Given the description of an element on the screen output the (x, y) to click on. 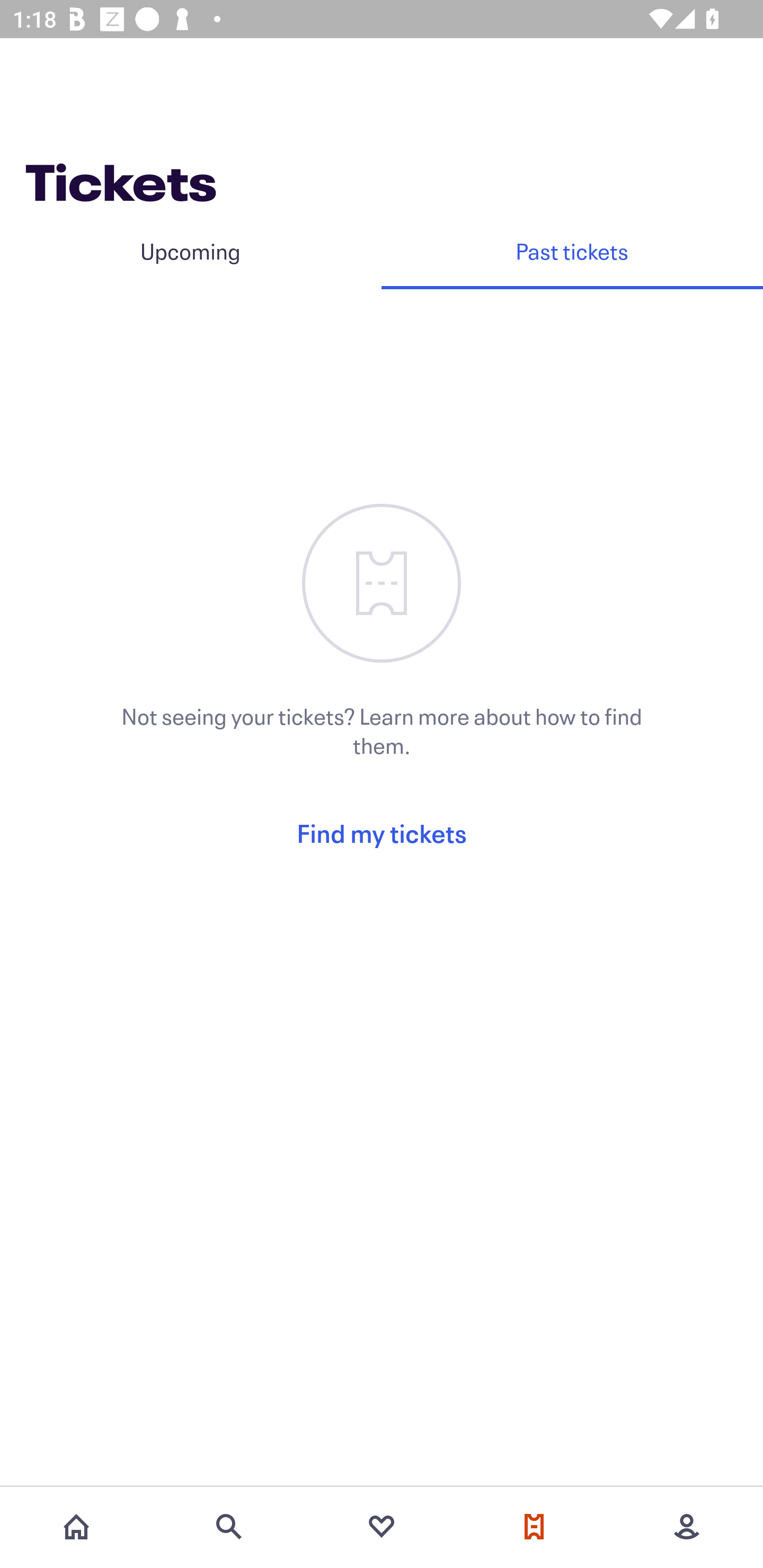
Upcoming (190, 250)
Find my tickets (381, 833)
Home (76, 1526)
Search events (228, 1526)
Favorites (381, 1526)
Tickets (533, 1526)
More (686, 1526)
